Given the description of an element on the screen output the (x, y) to click on. 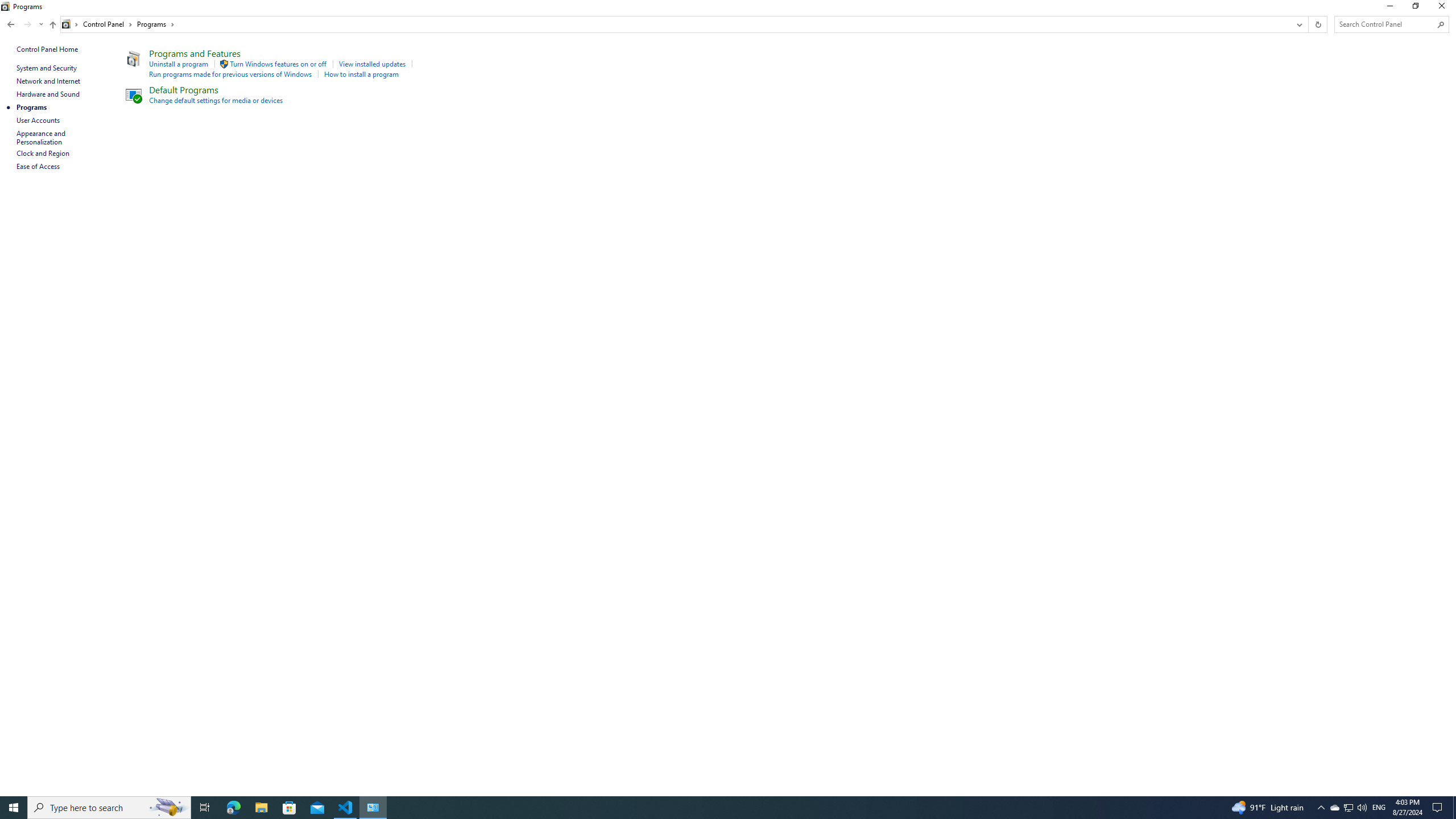
Back to Hardware and Sound (Alt + Left Arrow) (10, 23)
System (6, 6)
Q2790: 100% (1361, 807)
Running applications (706, 807)
Up to "Control Panel" (Alt + Up Arrow) (52, 24)
User Promoted Notification Area (1347, 807)
System (6, 6)
Run programs made for previous versions of Windows (230, 73)
Previous Locations (1298, 23)
Icon (132, 93)
Search highlights icon opens search home window (167, 807)
Turn Windows features on or off (277, 63)
Network and Internet (48, 80)
Microsoft Store (289, 807)
